Given the description of an element on the screen output the (x, y) to click on. 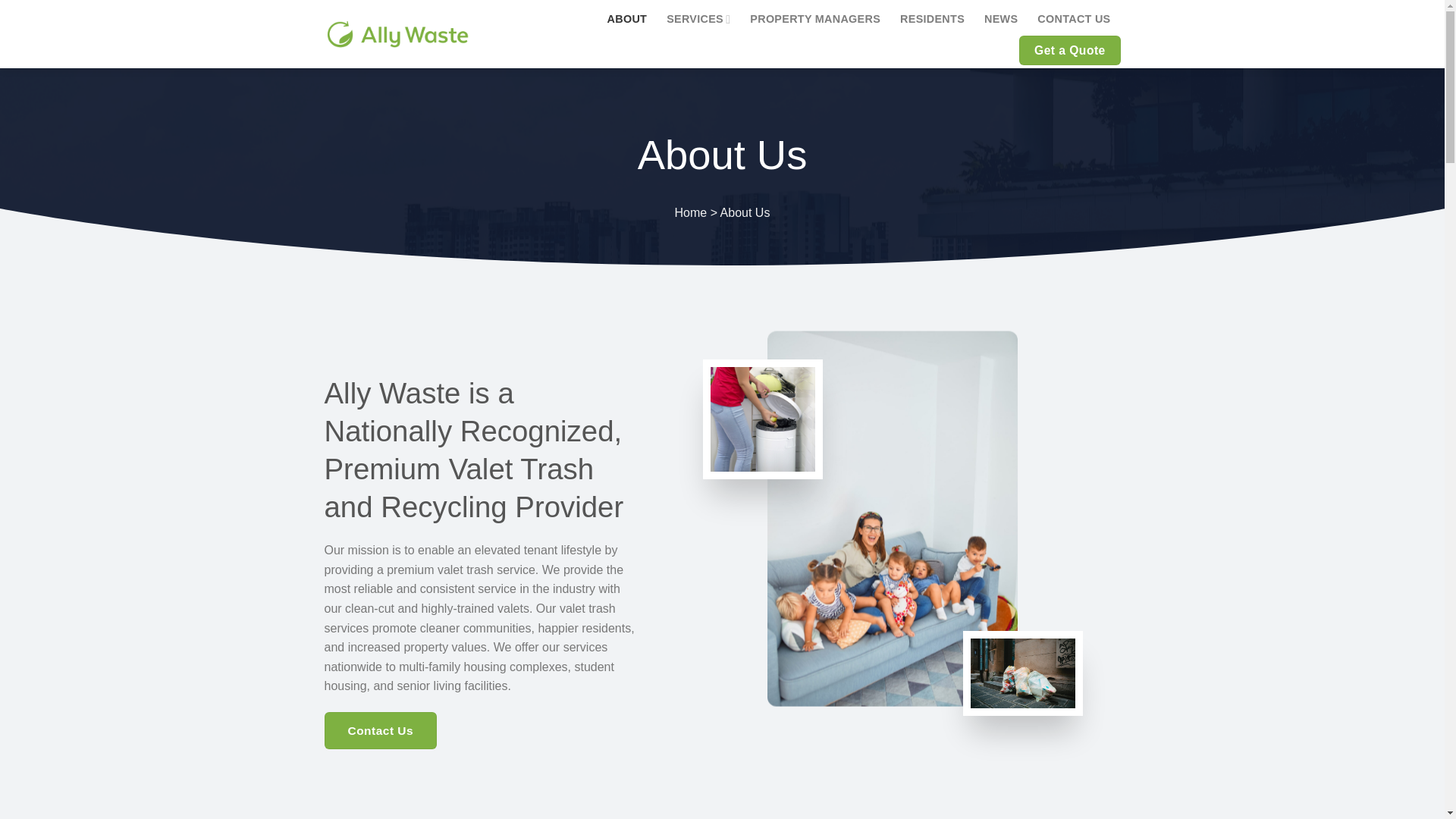
PROPERTY MANAGERS (814, 19)
RESIDENTS (931, 19)
about-3 - Ally Waste (762, 418)
SERVICES (698, 19)
CONTACT US (1072, 19)
Ally Waste - A Premium Valet Trash And Recycling Provider (397, 33)
Get a Quote (1069, 51)
ABOUT (627, 19)
Contact Us (381, 730)
markus-spiske-RGReOlU-n04-unsplash - Ally Waste (1023, 673)
NEWS (1000, 19)
